Given the description of an element on the screen output the (x, y) to click on. 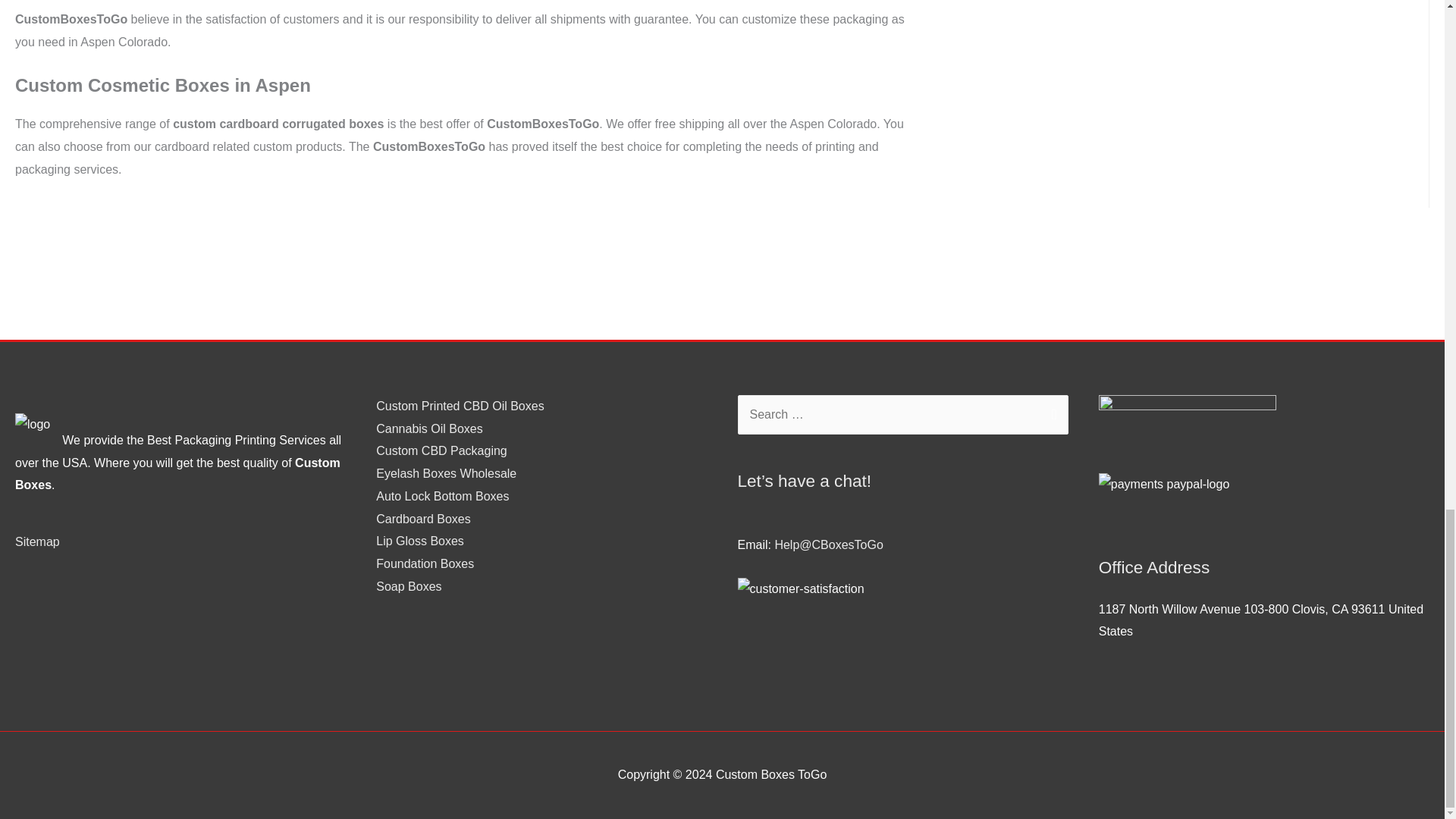
Foundation Boxes (424, 563)
Customer reviews powered by Trustpilot (540, 617)
Cardboard Boxes (422, 518)
Sitemap (36, 541)
Soap Boxes (408, 585)
Lip Gloss Boxes (419, 540)
Custom Printed CBD Oil Boxes (459, 405)
Eyelash Boxes Wholesale (445, 472)
Auto Lock Bottom Boxes (441, 495)
Custom CBD Packaging (440, 450)
Cannabis Oil Boxes (429, 428)
